Given the description of an element on the screen output the (x, y) to click on. 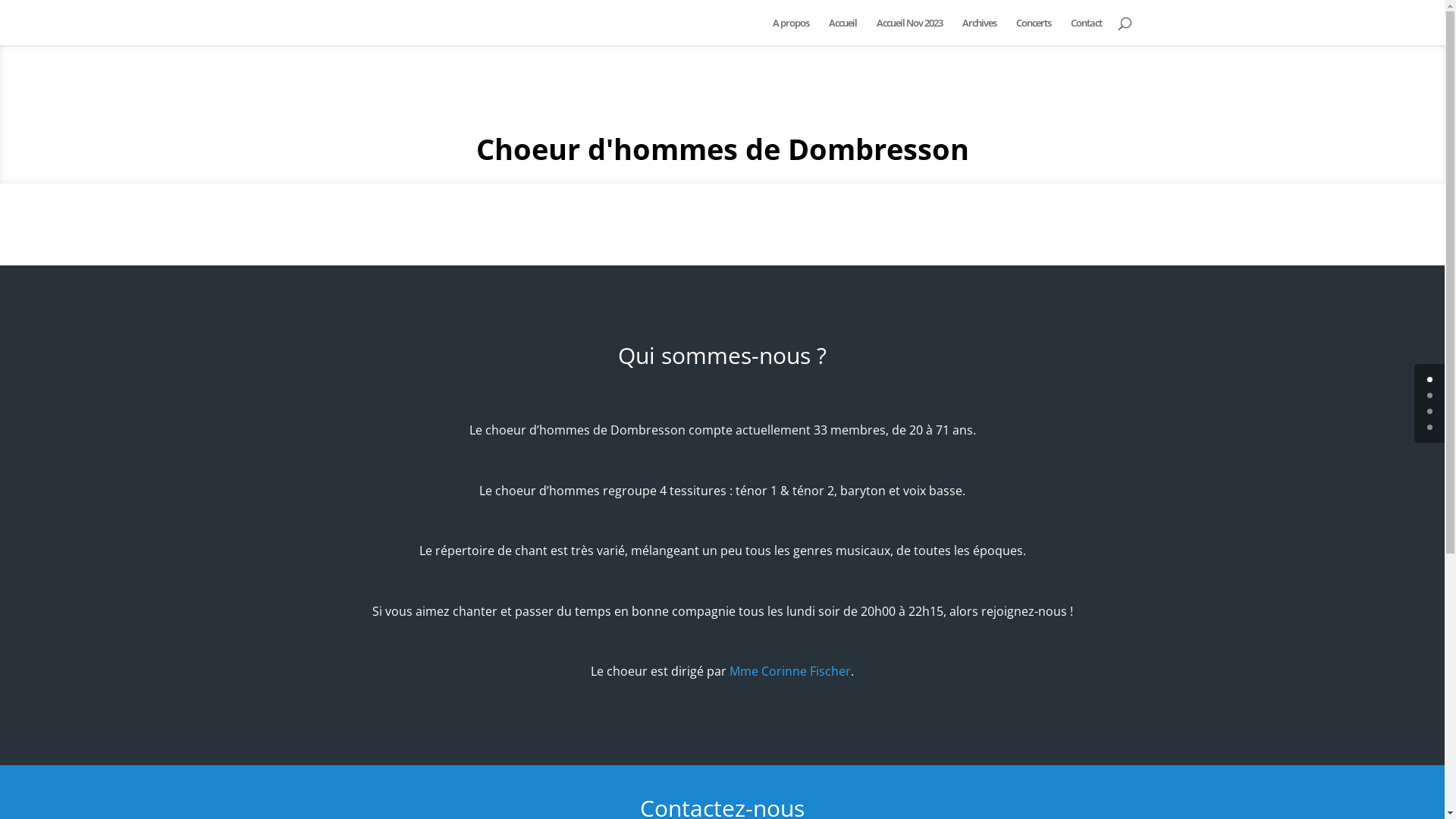
1 Element type: text (1429, 395)
2 Element type: text (1429, 411)
Contact Element type: text (1085, 31)
Concerts Element type: text (1033, 31)
Accueil Element type: text (842, 31)
0 Element type: text (1429, 379)
Archives Element type: text (978, 31)
Mme Corinne Fischer Element type: text (789, 670)
A propos Element type: text (789, 31)
Accueil Nov 2023 Element type: text (909, 31)
3 Element type: text (1429, 426)
